Given the description of an element on the screen output the (x, y) to click on. 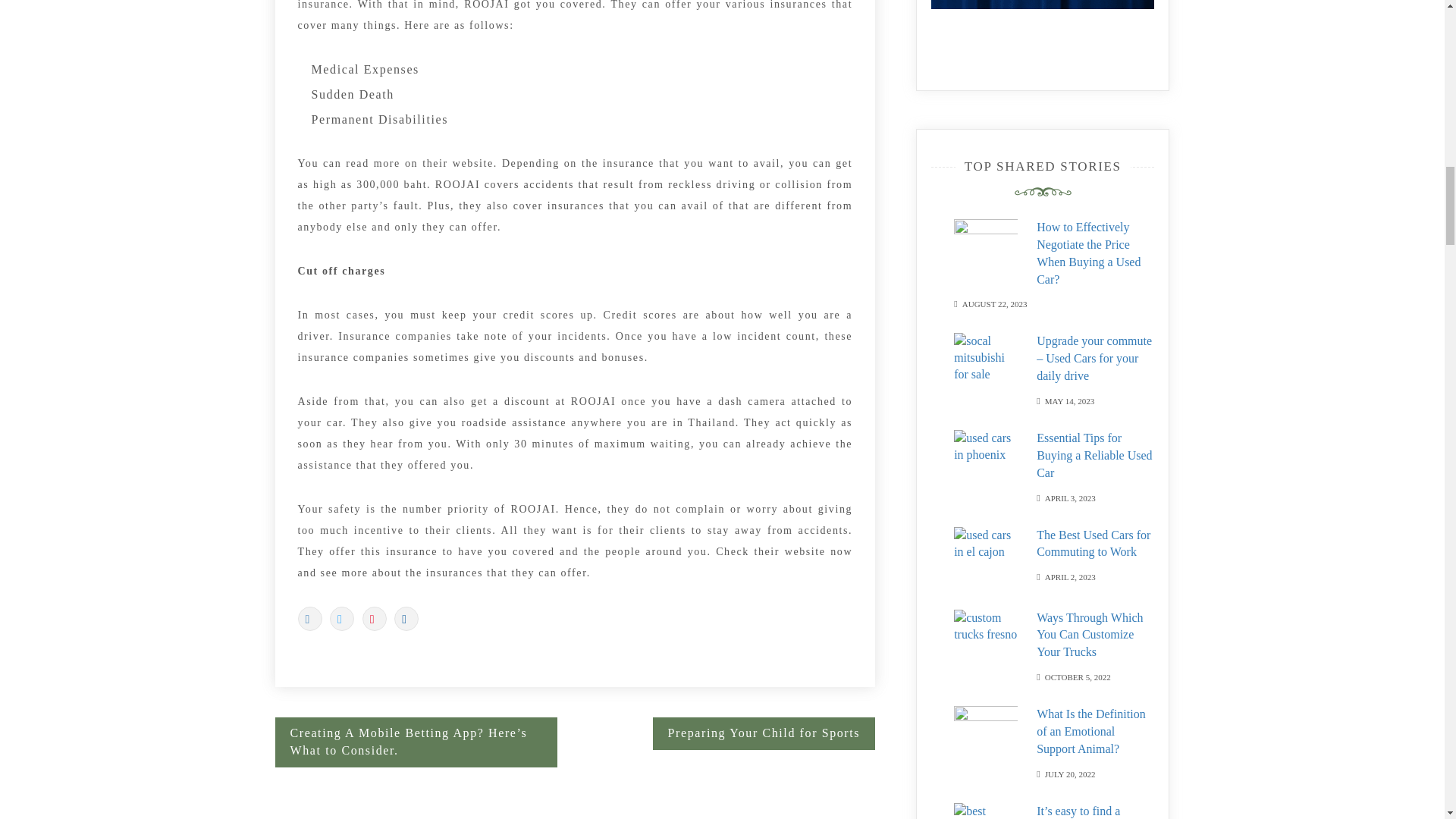
Ways Through Which You Can Customize Your Trucks (1089, 634)
AUGUST 22, 2023 (994, 302)
MAY 14, 2023 (1069, 399)
Preparing Your Child for Sports (764, 733)
JULY 20, 2022 (1070, 772)
The Best Used Cars for Commuting to Work (1093, 543)
APRIL 2, 2023 (1070, 575)
OCTOBER 5, 2022 (1077, 675)
APRIL 3, 2023 (1070, 496)
